Given the description of an element on the screen output the (x, y) to click on. 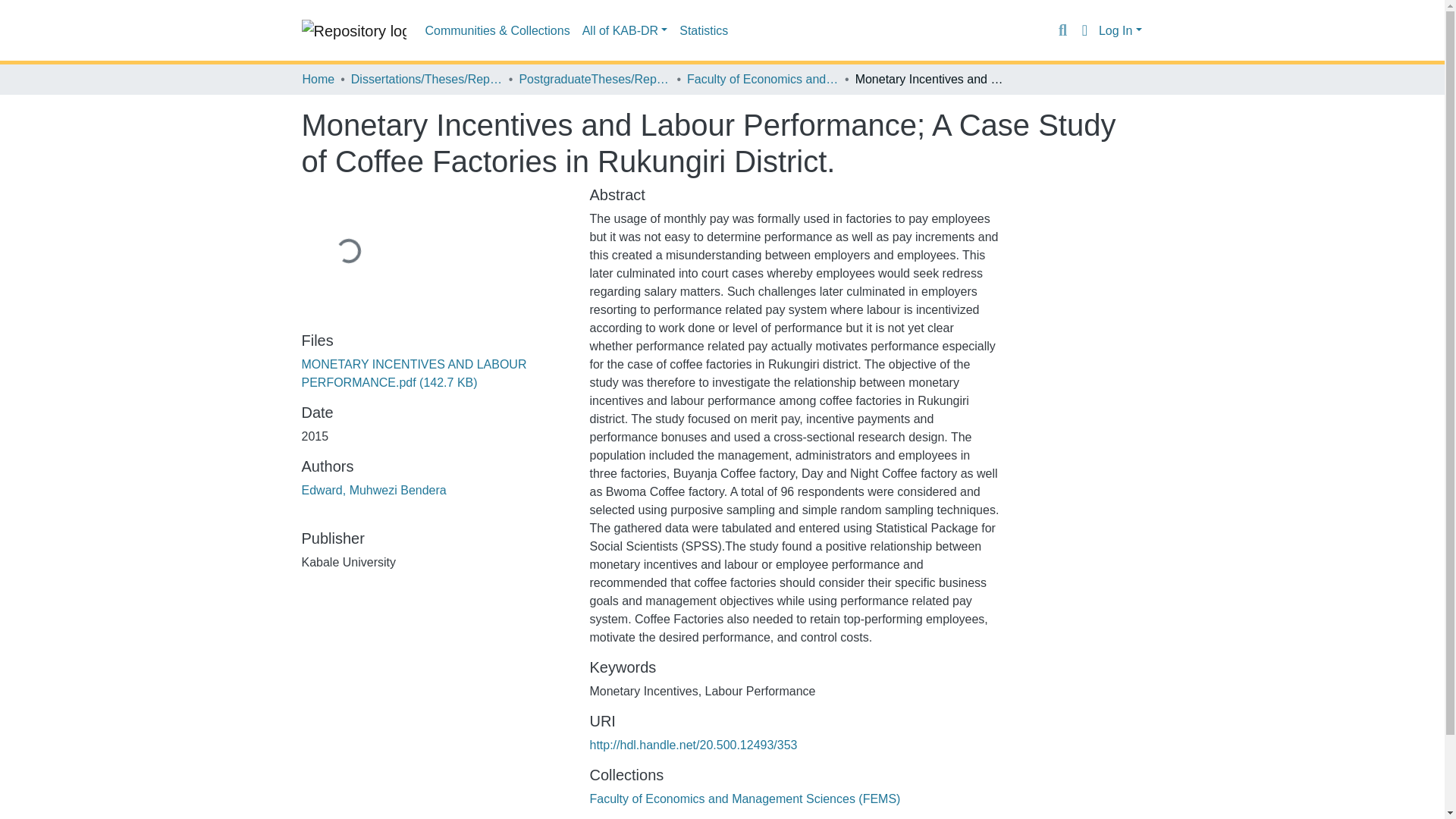
Home (317, 79)
Language switch (1084, 30)
Edward, Muhwezi Bendera (373, 490)
All of KAB-DR (625, 30)
Log In (1119, 30)
Statistics (702, 30)
Statistics (702, 30)
Search (1061, 30)
